Given the description of an element on the screen output the (x, y) to click on. 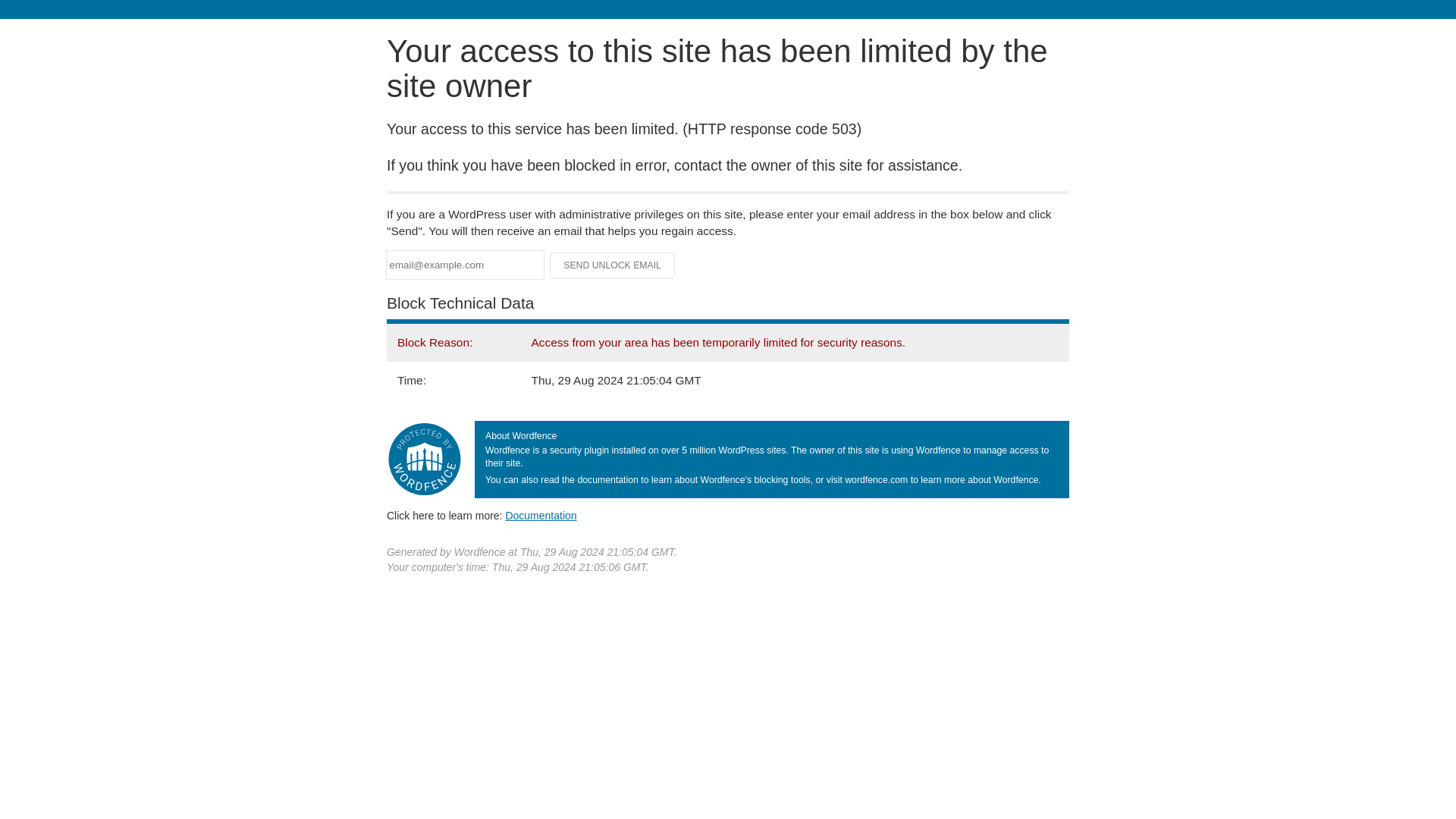
Send Unlock Email (612, 265)
Documentation (540, 515)
Send Unlock Email (612, 265)
